Given the description of an element on the screen output the (x, y) to click on. 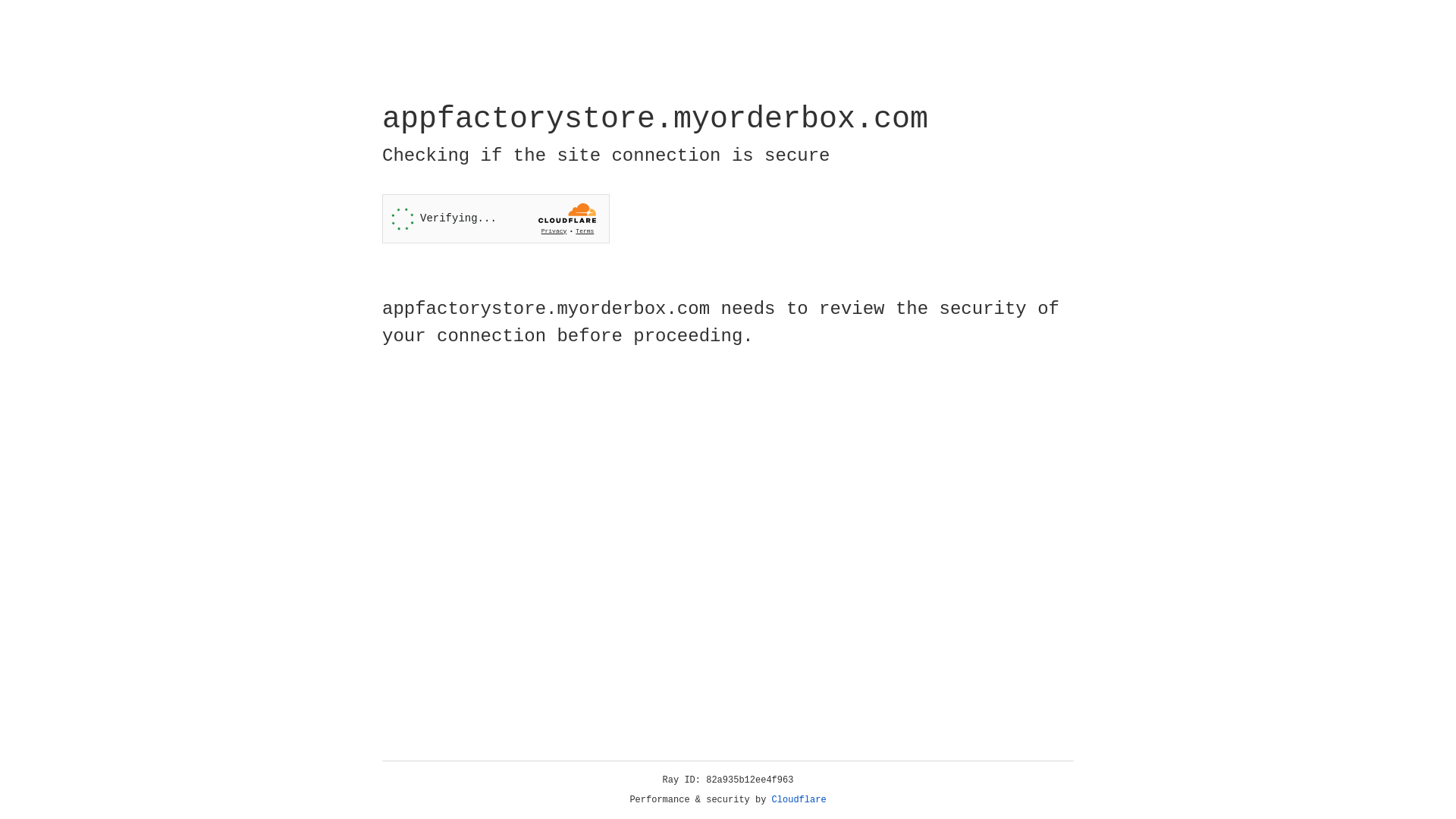
Widget containing a Cloudflare security challenge Element type: hover (495, 218)
Cloudflare Element type: text (798, 799)
